Given the description of an element on the screen output the (x, y) to click on. 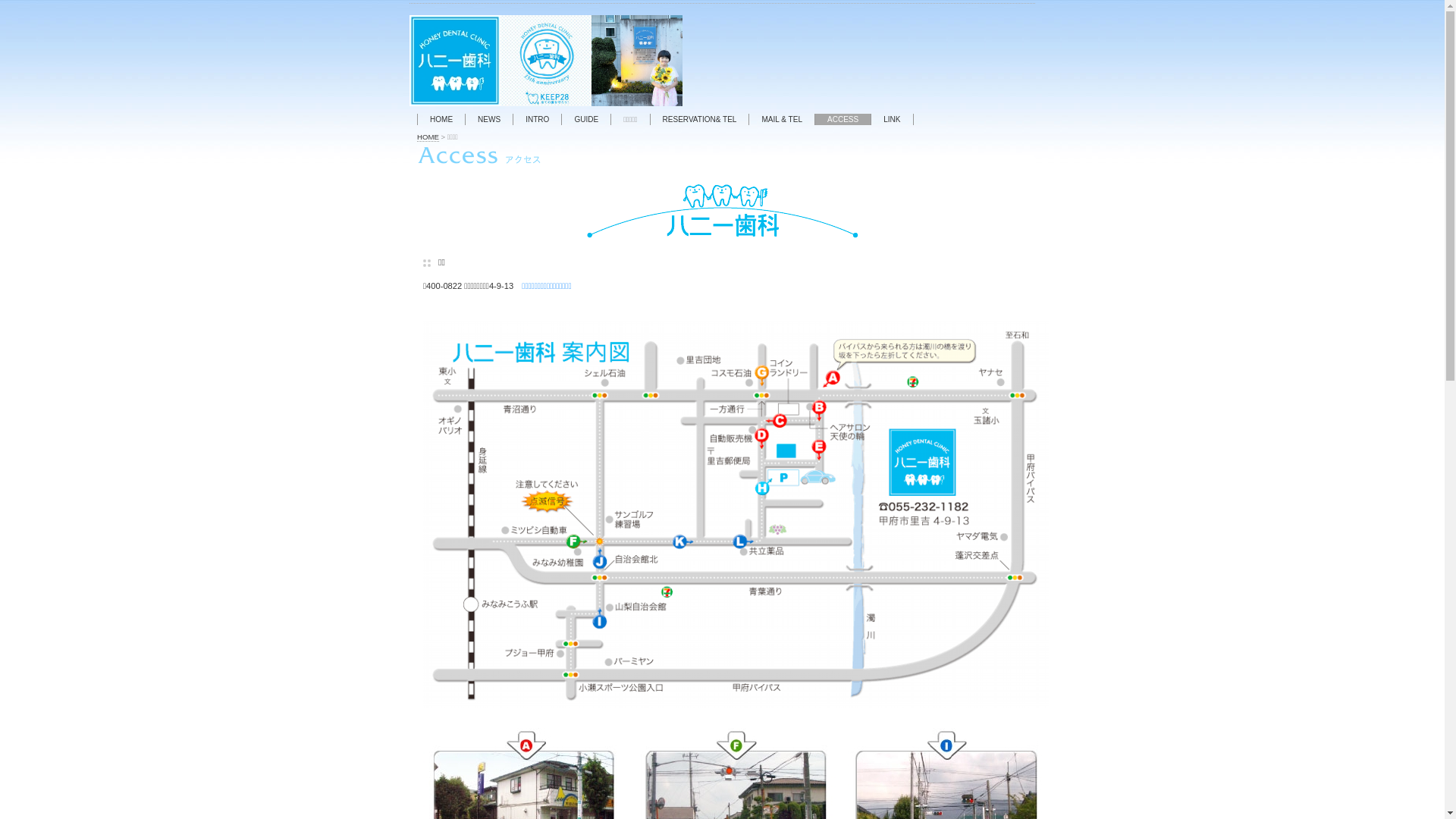
GUIDE Element type: text (585, 119)
RESERVATION& TEL Element type: text (699, 119)
INTRO Element type: text (537, 119)
LINK Element type: text (891, 119)
NEWS Element type: text (488, 119)
HOME Element type: text (428, 136)
HOME Element type: text (440, 119)
ACCESS Element type: text (842, 119)
MAIL & TEL Element type: text (781, 119)
